Given the description of an element on the screen output the (x, y) to click on. 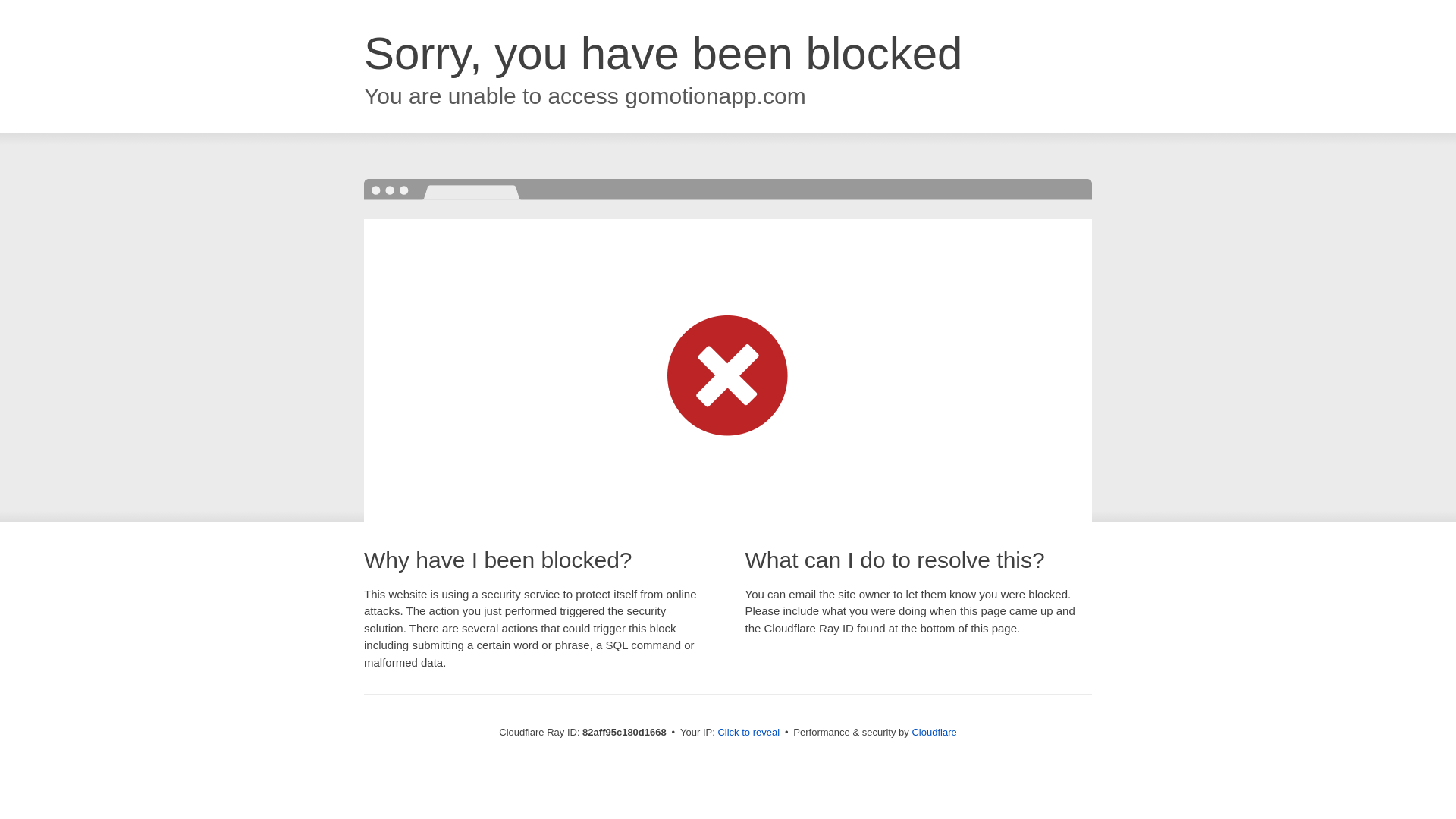
Cloudflare Element type: text (933, 731)
Click to reveal Element type: text (748, 732)
